Given the description of an element on the screen output the (x, y) to click on. 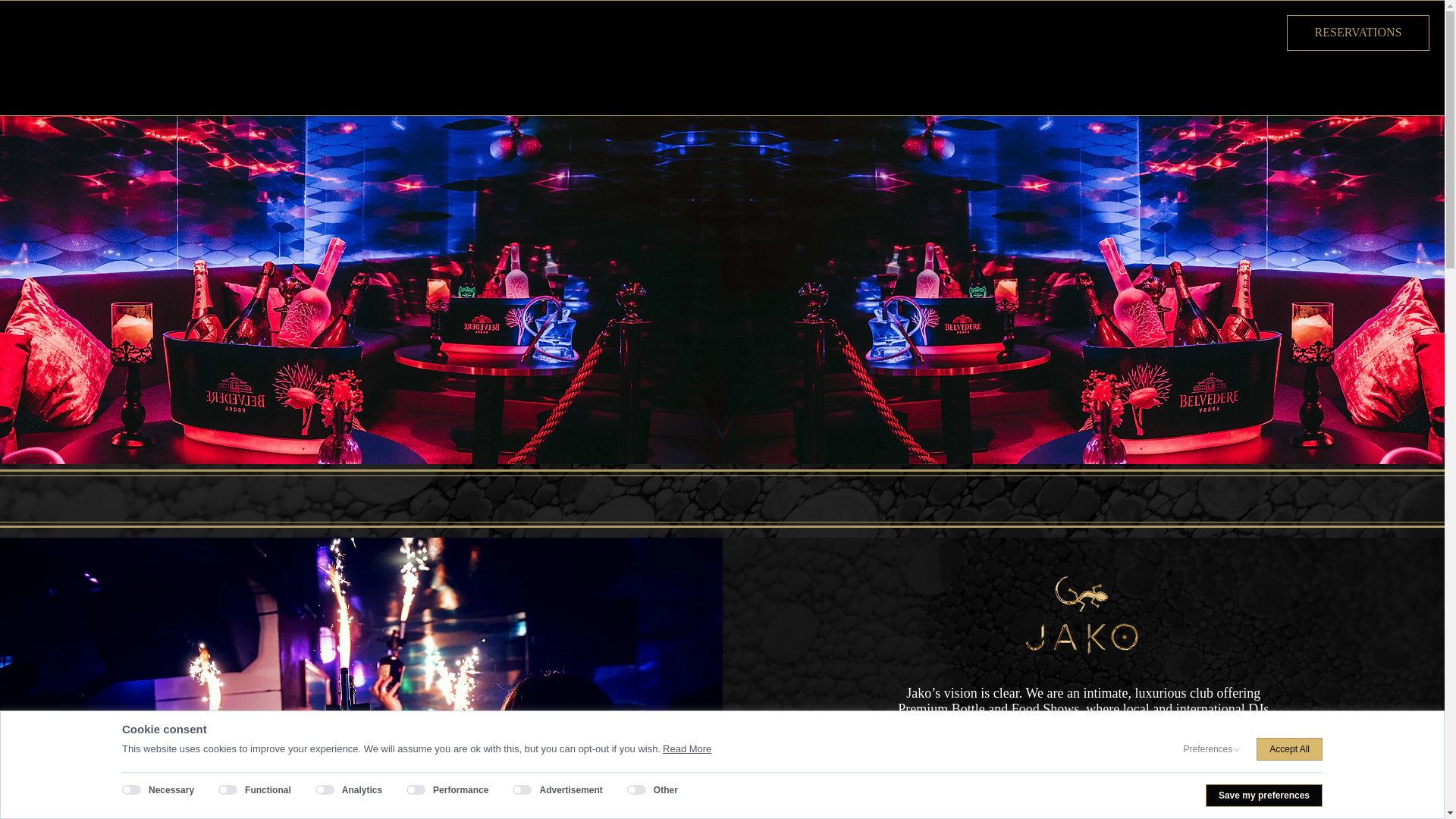
Read More (686, 748)
Save my preferences (1263, 794)
Accept All (1289, 748)
Preferences (1208, 748)
